Given the description of an element on the screen output the (x, y) to click on. 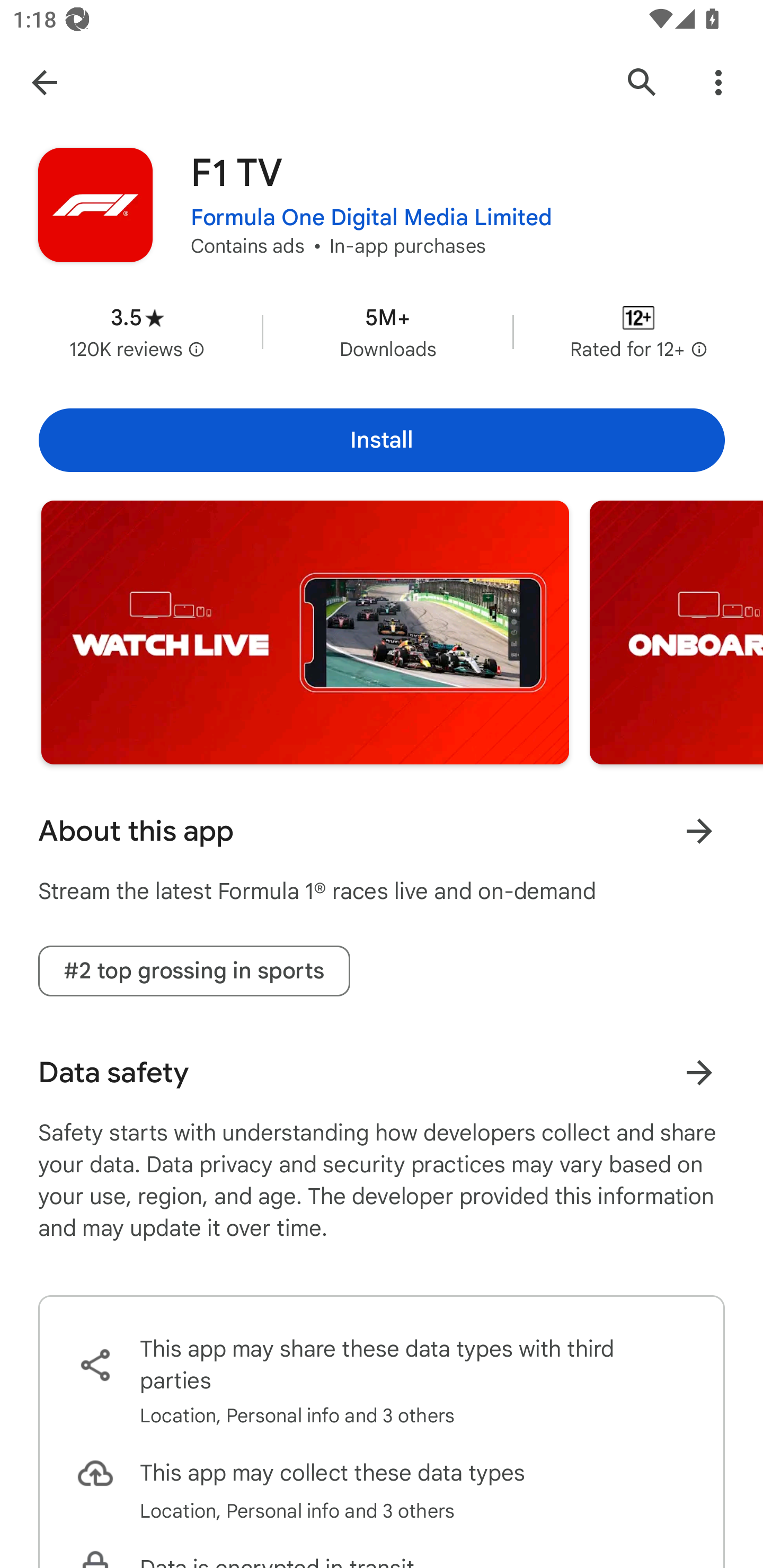
Navigate up (44, 81)
Search Google Play (642, 81)
More Options (718, 81)
Formula One Digital Media Limited (371, 217)
Average rating 3.5 stars in 120 thousand reviews (137, 331)
Content rating Rated for 12+ (638, 331)
Install (381, 439)
Screenshot "1" of "5" (305, 632)
About this app Learn more About this app (381, 830)
Learn more About this app (699, 830)
#2 top grossing in sports tag (194, 970)
Data safety Learn more about data safety (381, 1072)
Learn more about data safety (699, 1072)
